Given the description of an element on the screen output the (x, y) to click on. 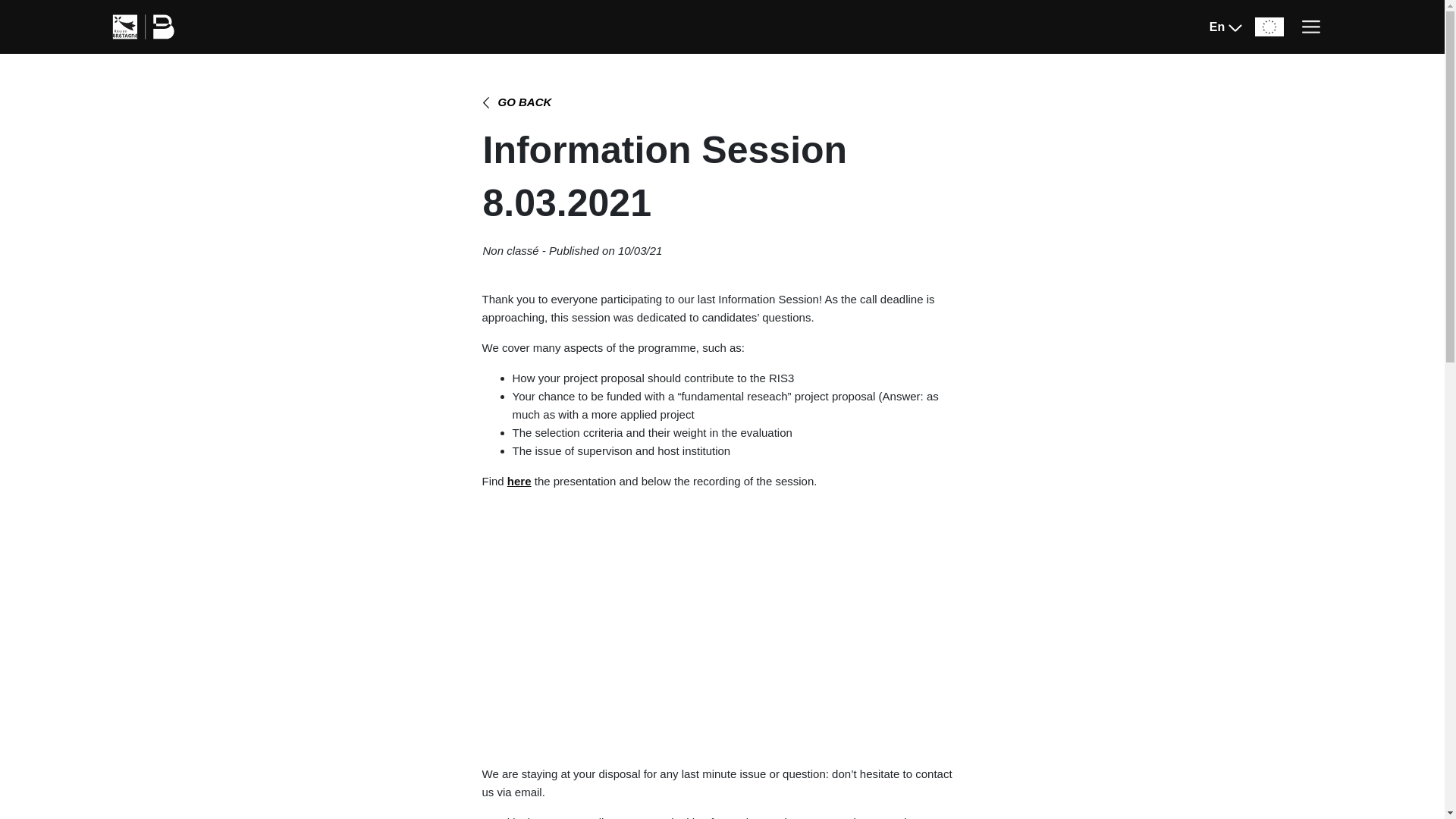
En (1226, 26)
Home (122, 71)
News (170, 71)
Menu (1310, 26)
here (518, 481)
GO BACK (516, 102)
